Given the description of an element on the screen output the (x, y) to click on. 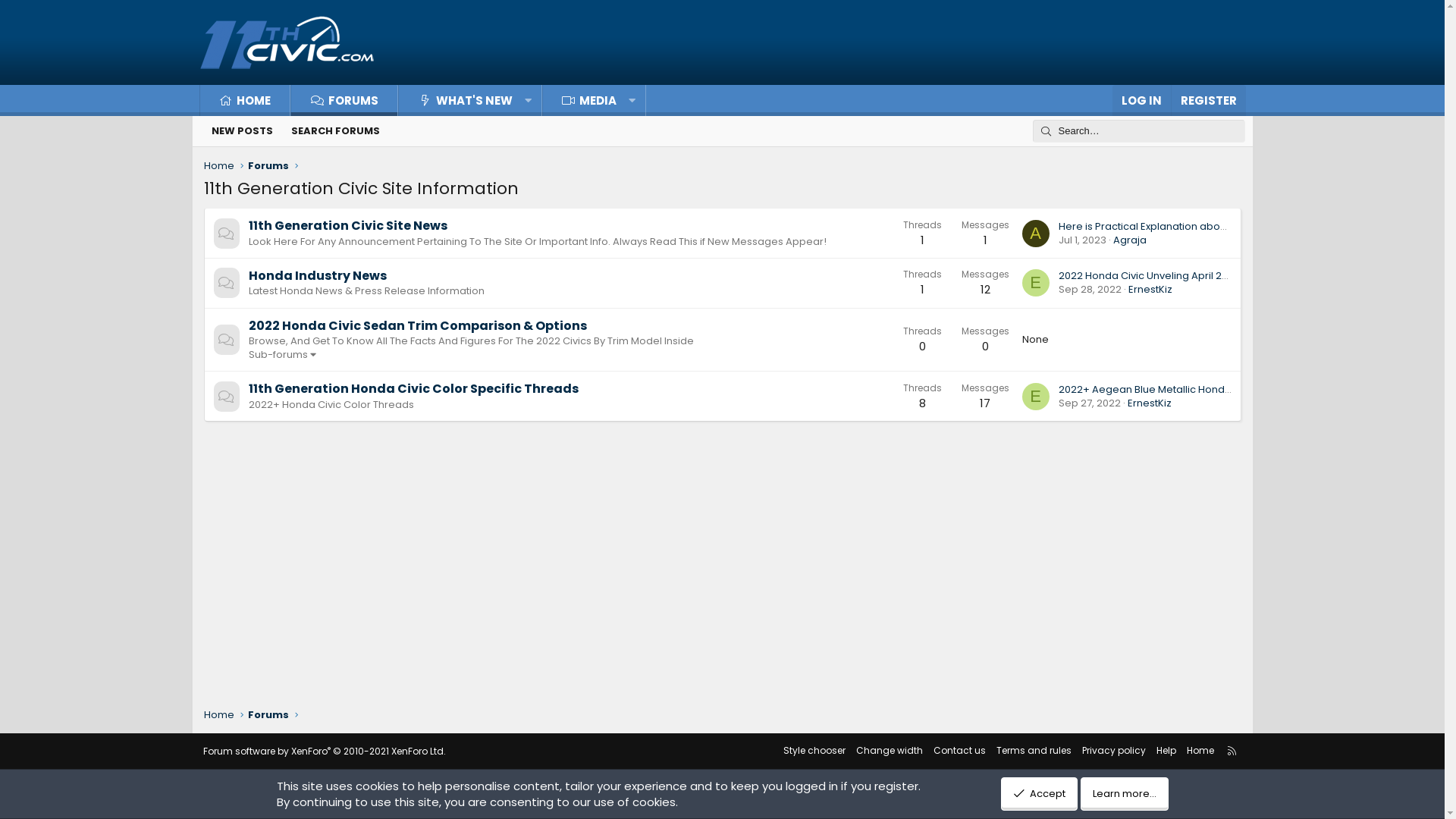
WHAT'S NEW Element type: text (456, 100)
Agraja Element type: text (1129, 239)
2022 Honda Civic Unveling April 28th, 2021 Element type: text (1160, 275)
LOG IN Element type: text (1140, 100)
Honda Industry News Element type: text (317, 275)
2022+ Aegean Blue Metallic Honda Civic Paint Thread Element type: text (1189, 389)
11th Generation Civic Site News Element type: text (347, 225)
Style chooser Element type: text (814, 750)
Sub-forums Element type: text (284, 354)
Forums Element type: text (267, 165)
2022 Honda Civic Sedan Trim Comparison & Options Element type: text (417, 325)
ErnestKiz Element type: text (1150, 289)
Terms and rules Element type: text (1033, 750)
SEARCH FORUMS Element type: text (335, 130)
Home Element type: text (218, 714)
Home Element type: text (218, 165)
MEDIA Element type: text (580, 100)
E Element type: text (1035, 282)
ErnestKiz Element type: text (1148, 402)
E Element type: text (1035, 395)
Change width Element type: text (889, 750)
Accept Element type: text (1039, 793)
Forums Element type: text (267, 714)
NEW POSTS Element type: text (241, 130)
A Element type: text (1035, 233)
Help Element type: text (1166, 750)
REGISTER Element type: text (1207, 100)
Privacy policy Element type: text (1113, 750)
HOME Element type: text (245, 100)
Contact us Element type: text (959, 750)
RSS Element type: text (1231, 751)
Home Element type: text (1200, 750)
11th Generation Honda Civic Color Specific Threads Element type: text (413, 388)
FORUMS Element type: text (344, 100)
